Given the description of an element on the screen output the (x, y) to click on. 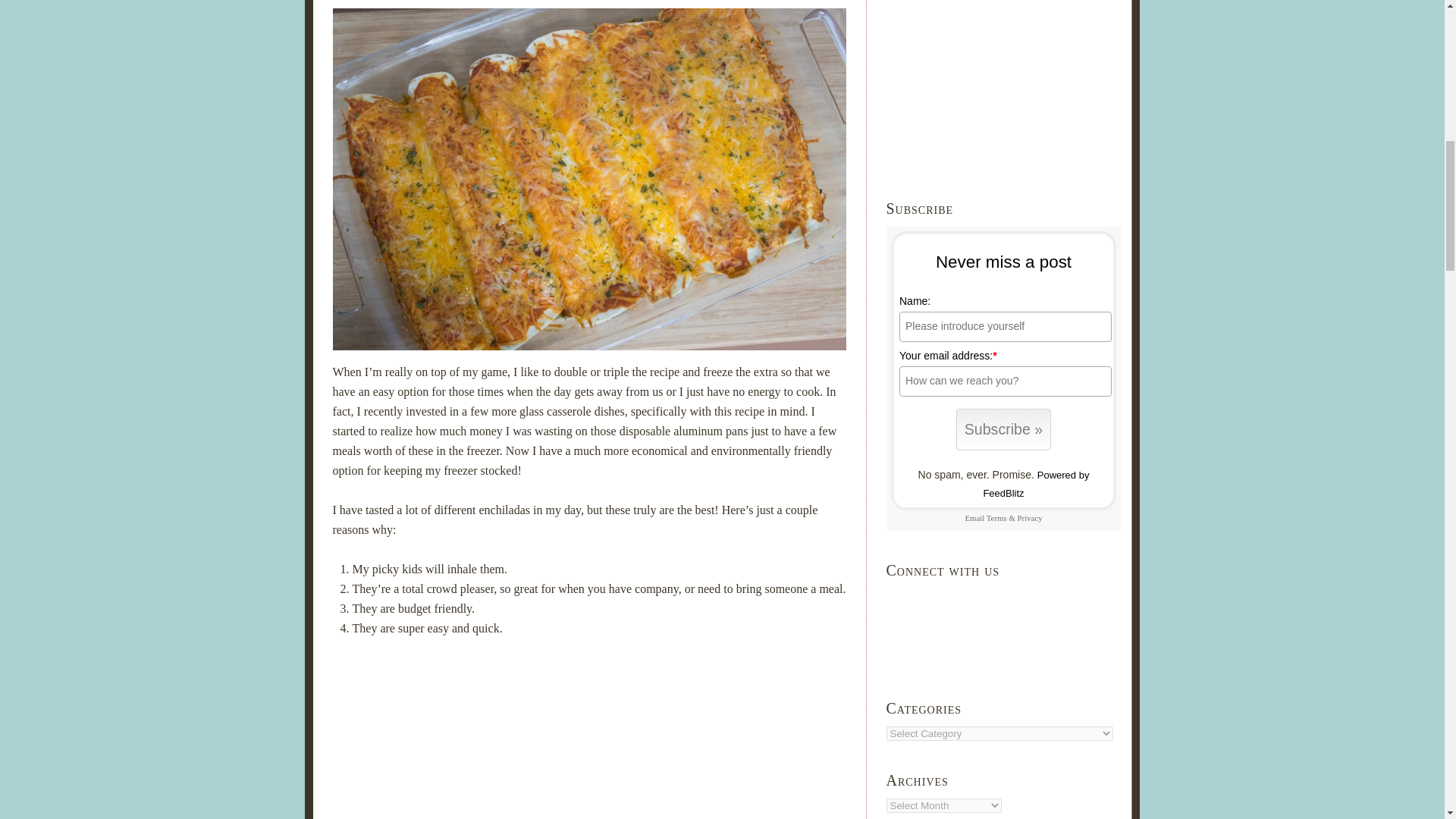
click to join (1003, 429)
Email subscriptions terms of service (997, 517)
Please introduce yourself (1005, 327)
How can we reach you? (1005, 381)
